Given the description of an element on the screen output the (x, y) to click on. 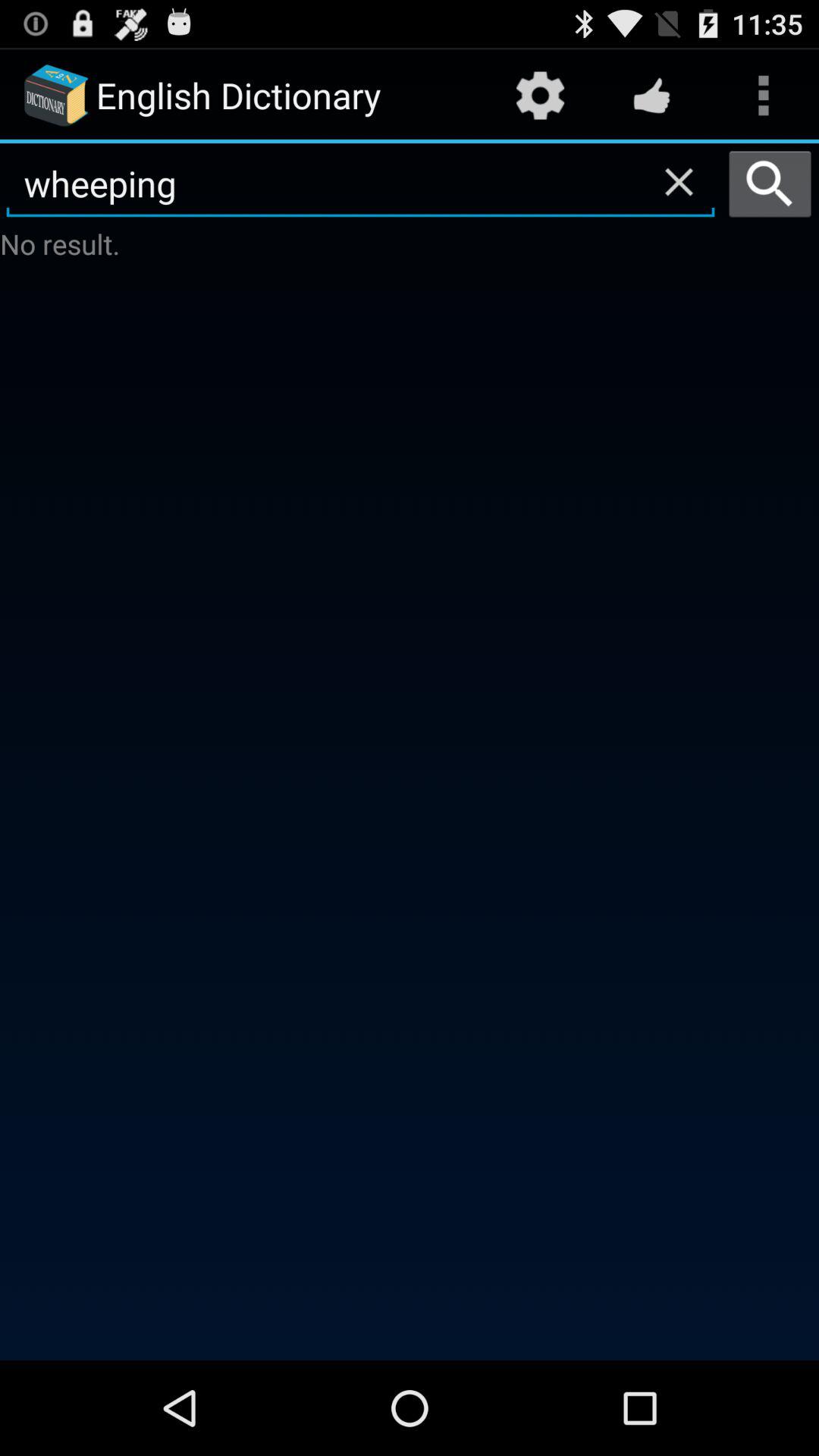
launch the icon above wheeping (540, 95)
